Given the description of an element on the screen output the (x, y) to click on. 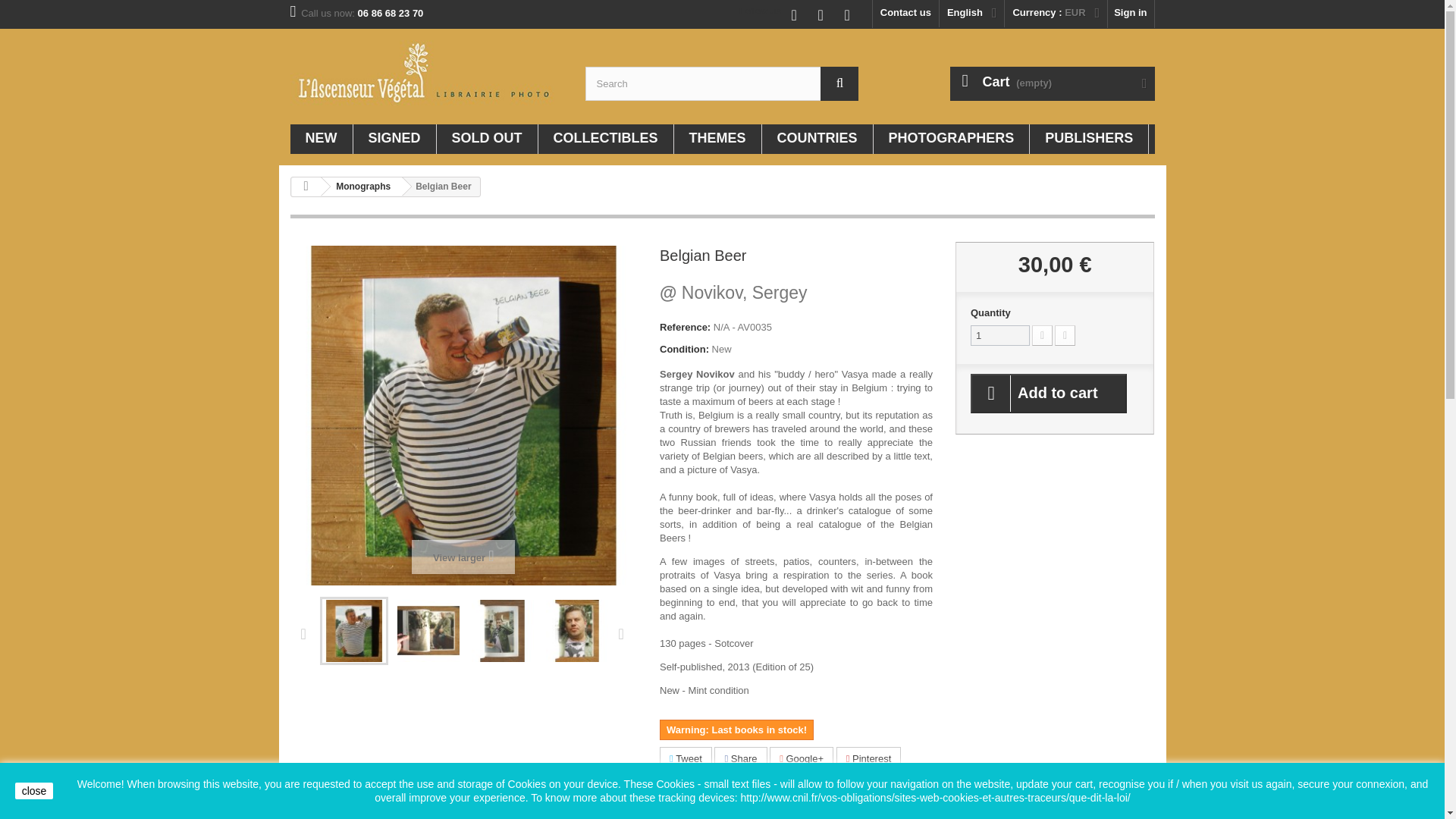
Contact us (905, 13)
THEMES (717, 138)
Sign in (1130, 13)
Follow us (759, 10)
New (320, 138)
Contact us (905, 13)
View my shopping cart (1051, 83)
SOLD OUT (486, 138)
signed (394, 138)
1 (1000, 335)
SIGNED (394, 138)
COUNTRIES (816, 138)
COLLECTIBLES (605, 138)
Log in to your customer account (1130, 13)
NEW (320, 138)
